Given the description of an element on the screen output the (x, y) to click on. 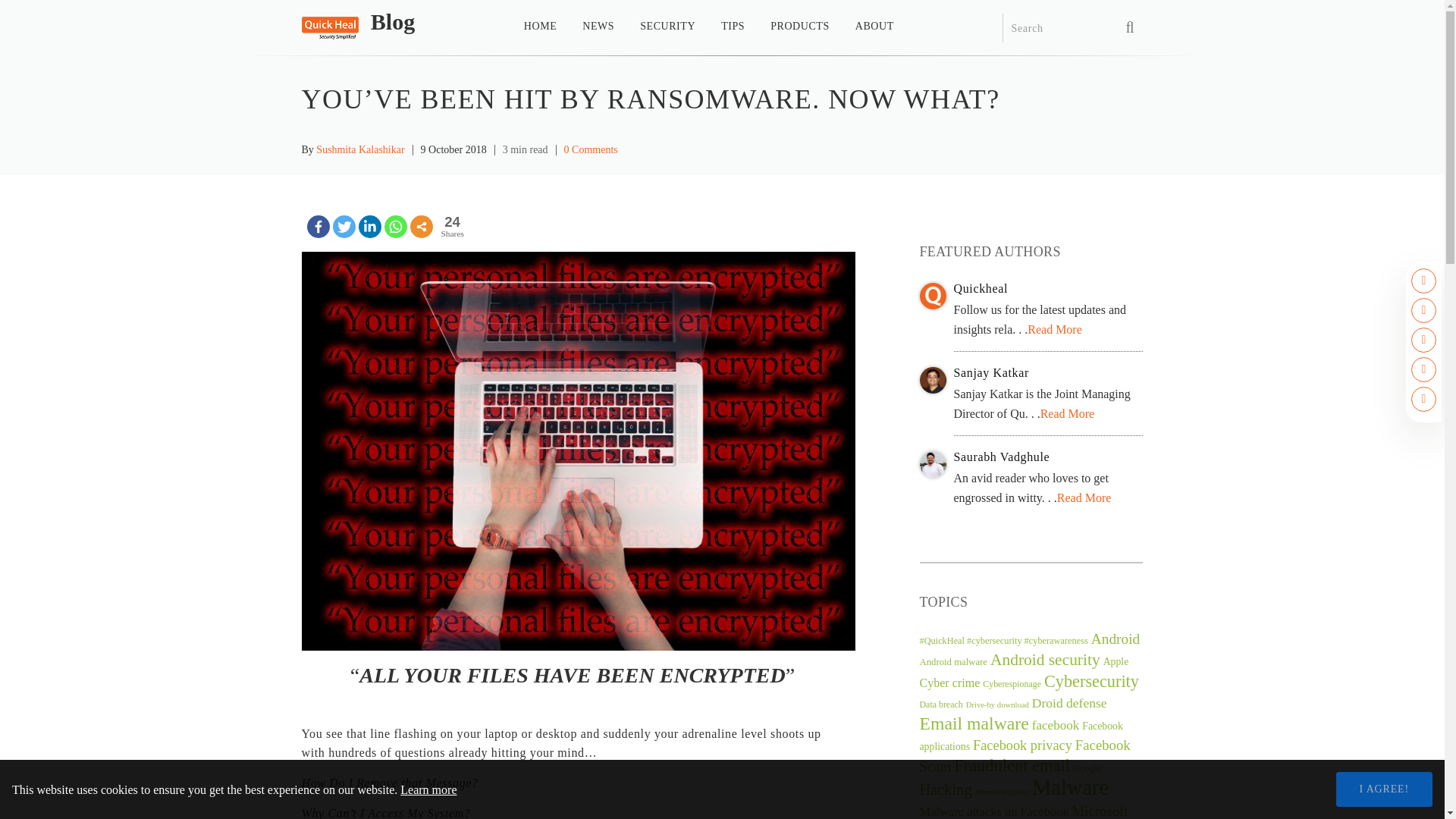
Facebook (317, 226)
Data breach (940, 704)
Facebook applications (1020, 736)
Apple (1116, 661)
HOME (540, 31)
Total Shares (452, 226)
TIPS (732, 31)
Droid defense (1069, 702)
Android security (1045, 659)
Cyber crime (948, 682)
Email malware (972, 723)
More (420, 226)
3 min read (525, 149)
Quickheal (1047, 289)
facebook (1056, 725)
